Given the description of an element on the screen output the (x, y) to click on. 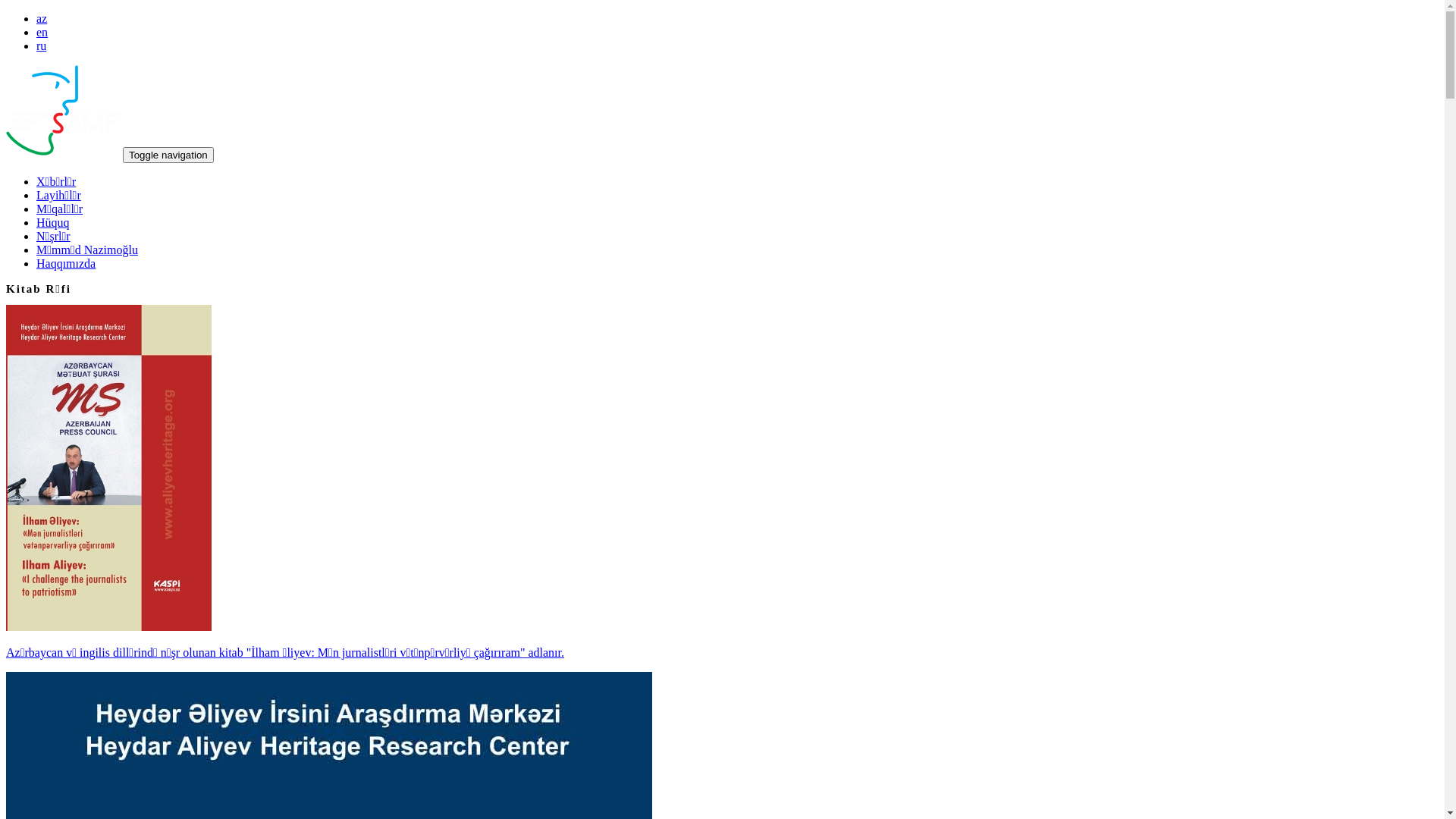
en Element type: text (41, 31)
az Element type: text (41, 18)
ru Element type: text (41, 45)
Toggle navigation Element type: text (167, 155)
